Given the description of an element on the screen output the (x, y) to click on. 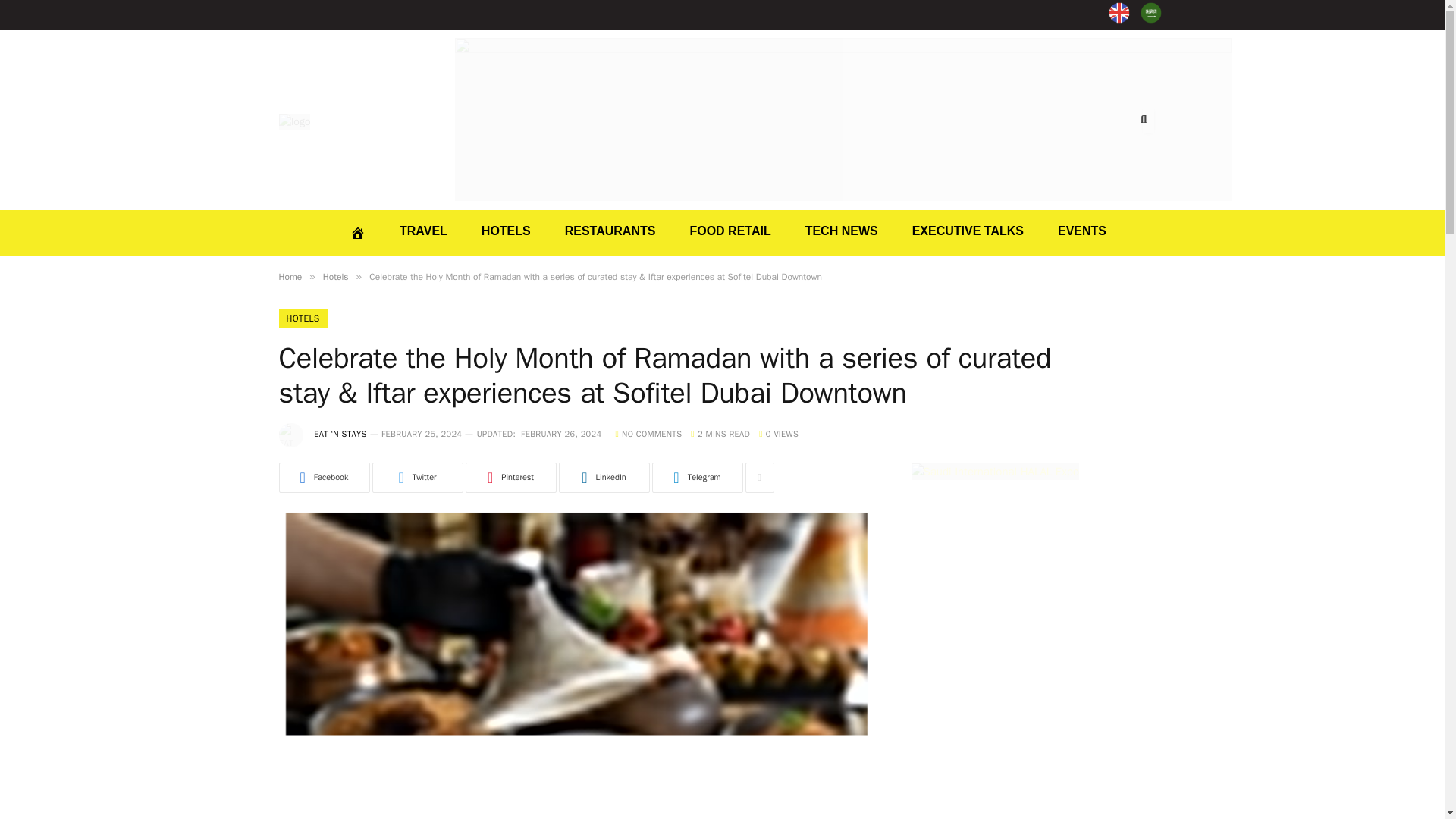
HOTELS (504, 230)
Share on Pinterest (510, 477)
TECH NEWS (840, 230)
Share on Telegram (697, 477)
Share on LinkedIn (603, 477)
EVENTS (1080, 230)
EXECUTIVE TALKS (966, 230)
Show More Social Sharing (758, 477)
FOOD RETAIL (729, 230)
TRAVEL (423, 230)
